Given the description of an element on the screen output the (x, y) to click on. 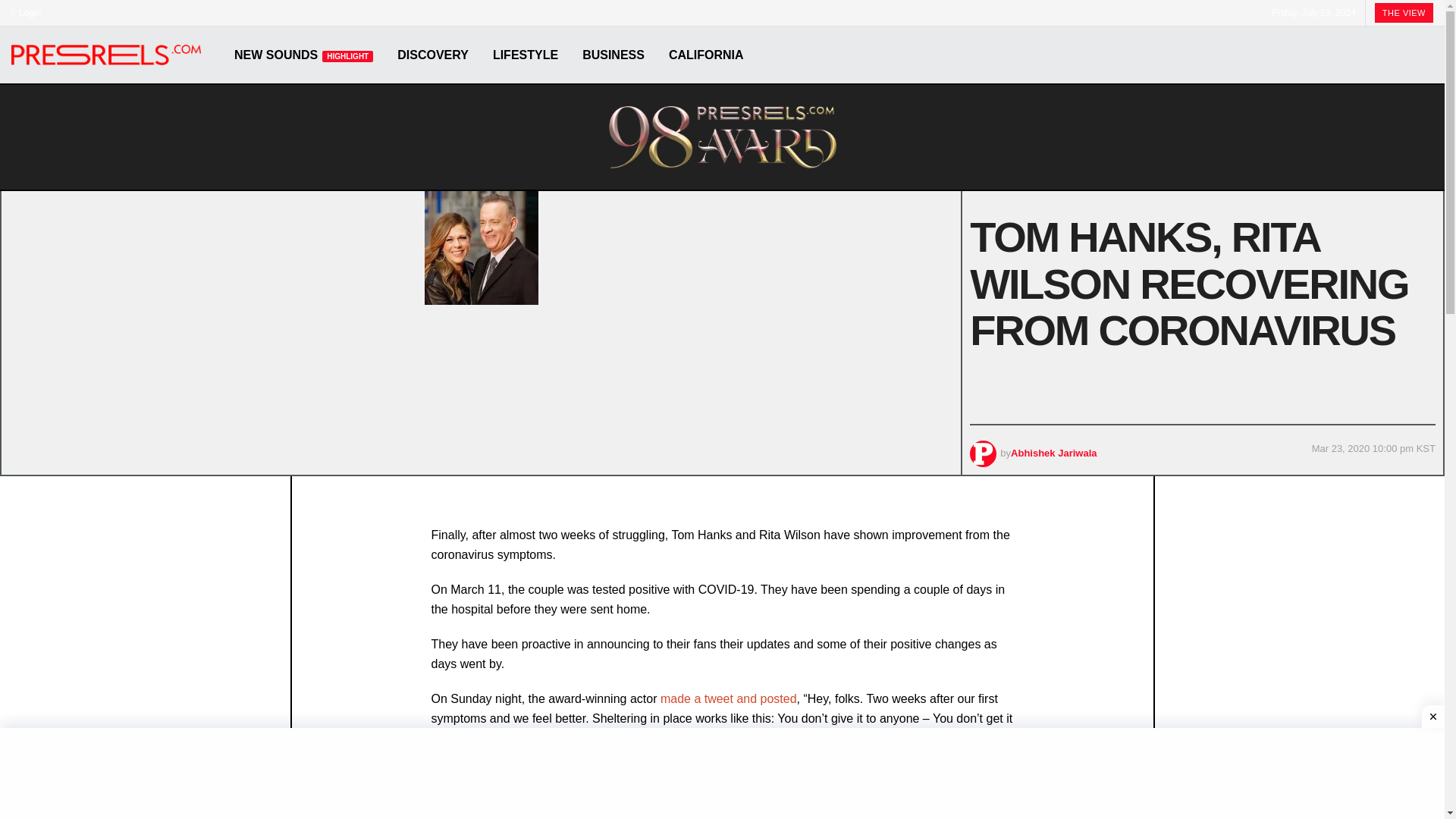
BUSINESS (613, 54)
LIFESTYLE (525, 54)
NEW SOUNDSHIGHLIGHT (303, 54)
CALIFORNIA (705, 54)
DISCOVERY (432, 54)
THE VIEW (1403, 12)
Login (25, 12)
